Given the description of an element on the screen output the (x, y) to click on. 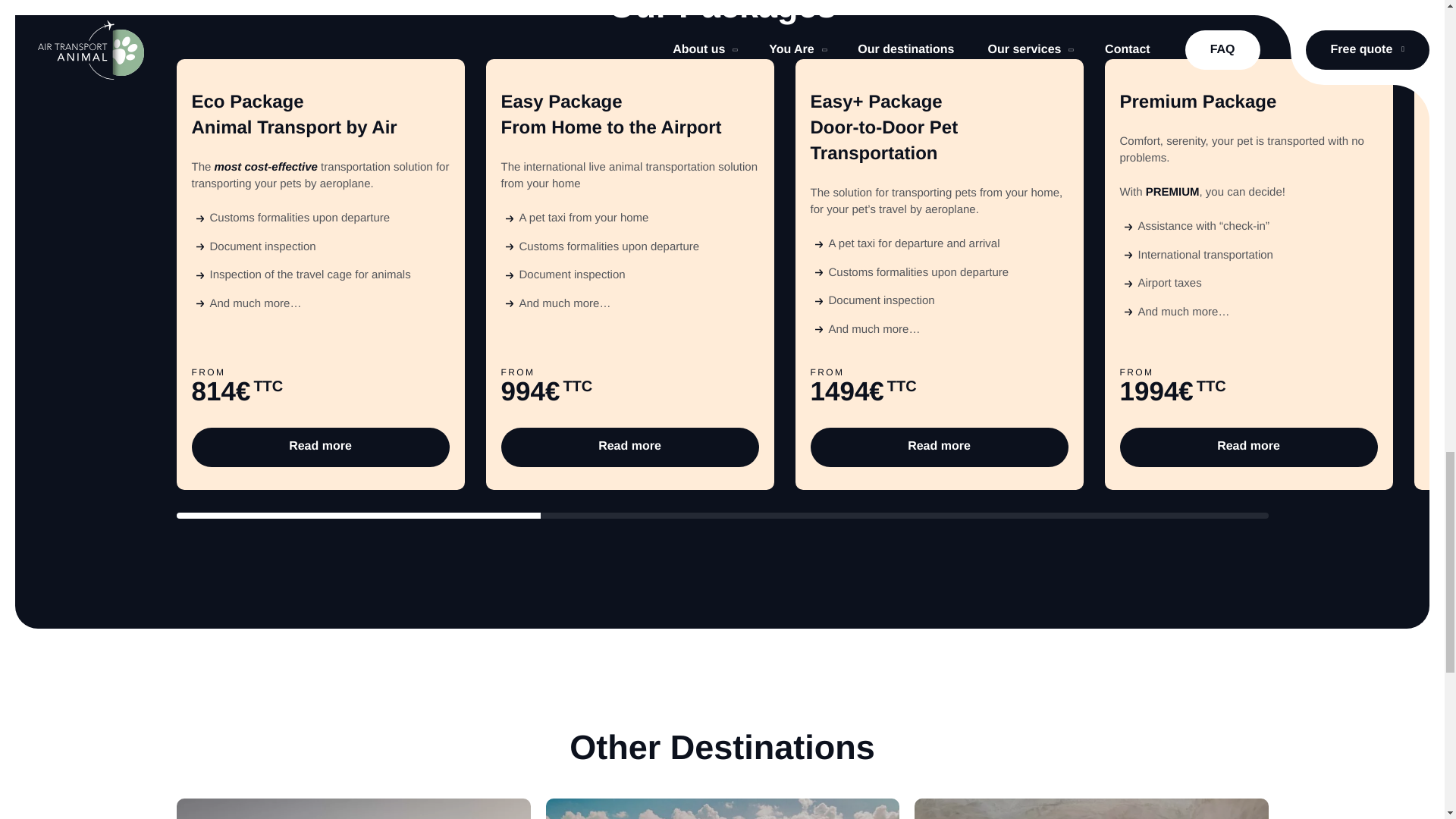
Read more (1248, 446)
Australia (353, 808)
Malta (722, 808)
Read more (319, 446)
New Caledonia (1091, 808)
Read more (629, 446)
Read more (938, 446)
